Given the description of an element on the screen output the (x, y) to click on. 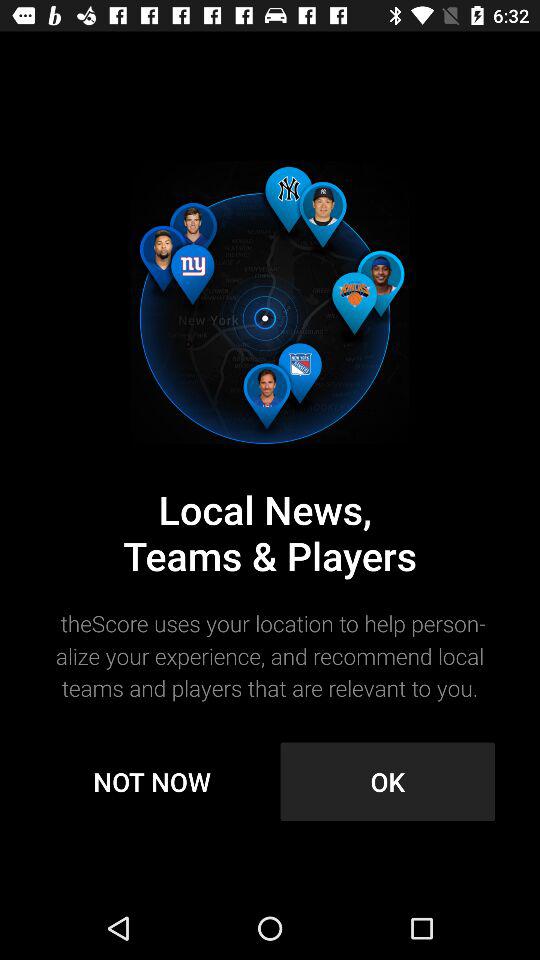
select ok icon (387, 781)
